Given the description of an element on the screen output the (x, y) to click on. 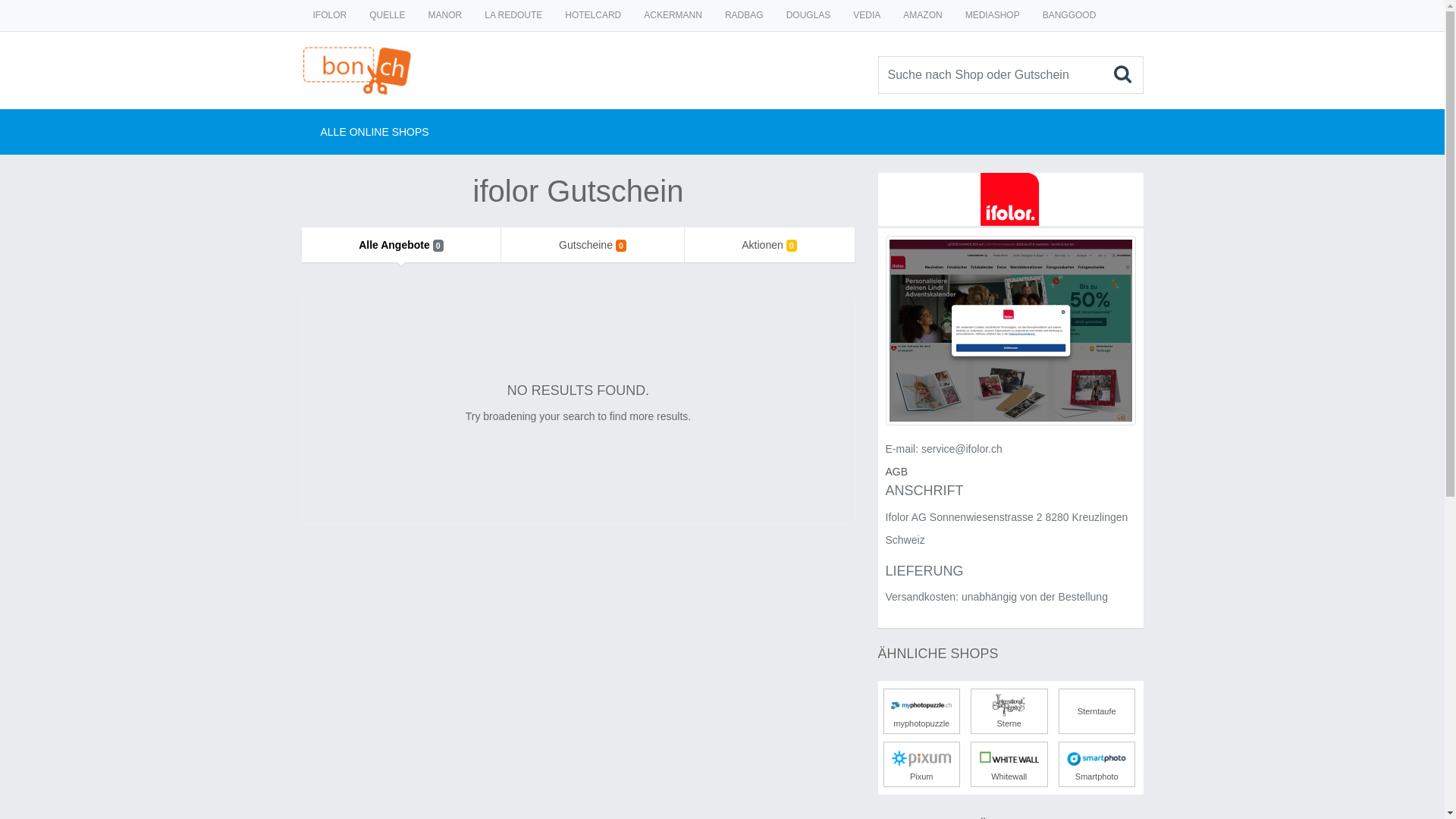
ALLE ONLINE SHOPS Element type: text (365, 131)
LA REDOUTE Element type: text (513, 15)
Alle Angebote 0 Element type: text (401, 244)
AMAZON Element type: text (922, 15)
HOTELCARD Element type: text (592, 15)
IFOLOR Element type: text (329, 15)
QUELLE Element type: text (386, 15)
MEDIASHOP Element type: text (992, 15)
Aktionen 0 Element type: text (769, 244)
bon.ch Element type: hover (356, 53)
MANOR Element type: text (445, 15)
VEDIA Element type: text (866, 15)
ACKERMANN Element type: text (672, 15)
RADBAG Element type: text (744, 15)
DOUGLAS Element type: text (808, 15)
Gutscheine 0 Element type: text (592, 244)
AGB Element type: text (896, 471)
BANGGOOD Element type: text (1069, 15)
